Given the description of an element on the screen output the (x, y) to click on. 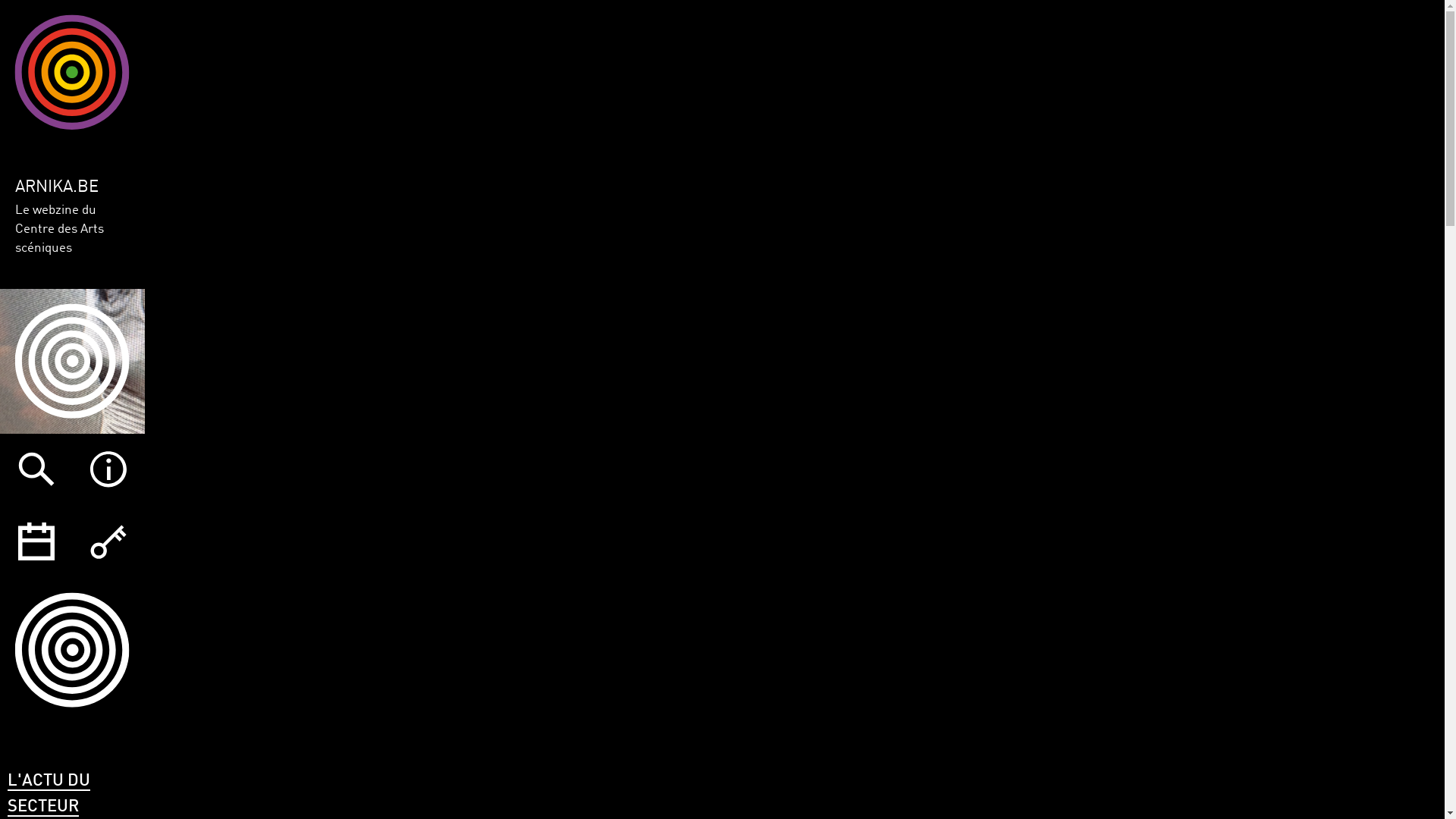
Infos Element type: text (108, 469)
Connexion Element type: text (108, 541)
Agenda Element type: text (36, 541)
Recherche Element type: text (36, 469)
